Given the description of an element on the screen output the (x, y) to click on. 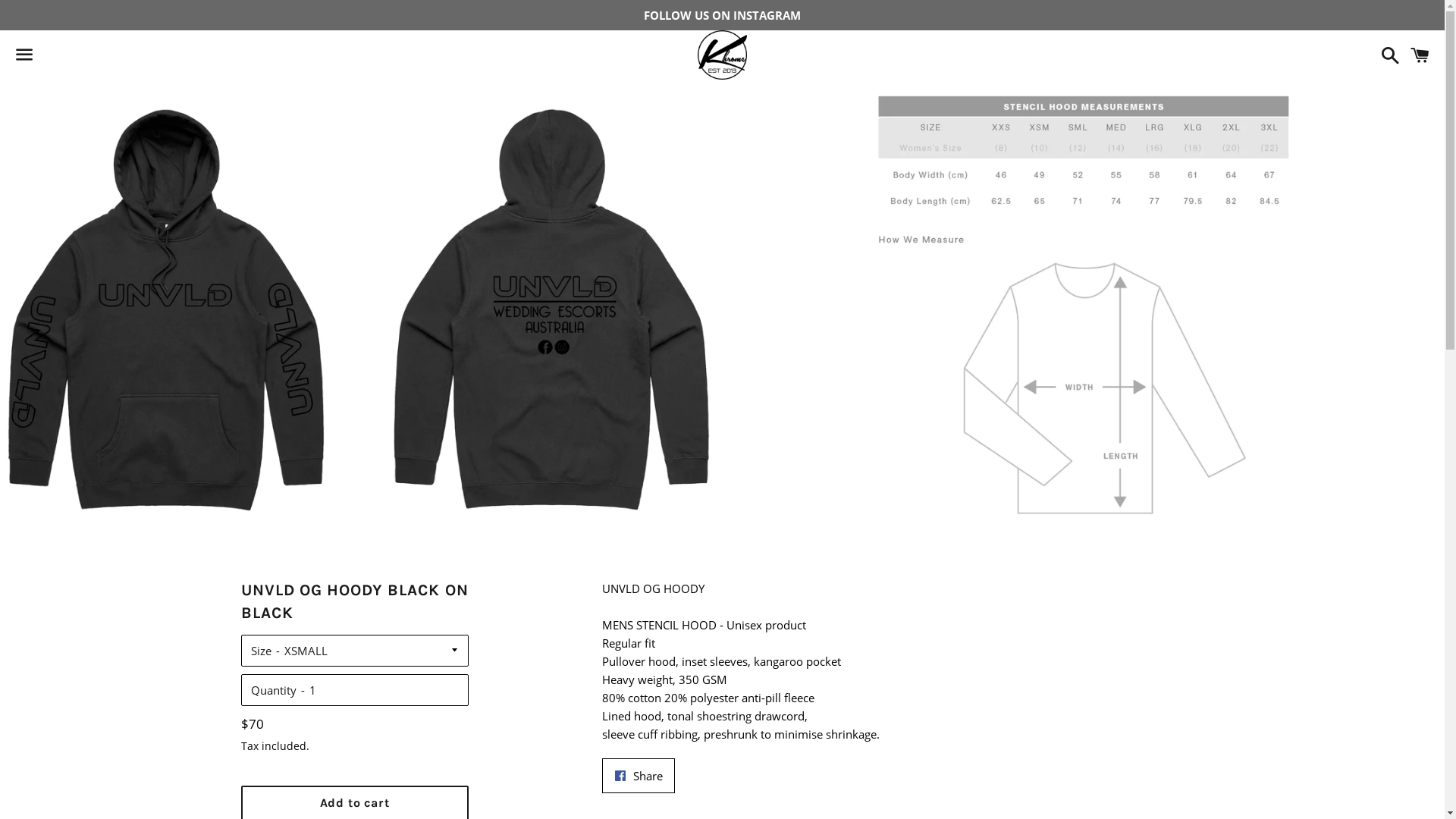
FOLLOW US ON INSTAGRAM Element type: text (722, 15)
Cart Element type: text (1419, 54)
Search Element type: text (1386, 54)
Menu Element type: text (24, 54)
Share
Share on Facebook Element type: text (638, 775)
